Given the description of an element on the screen output the (x, y) to click on. 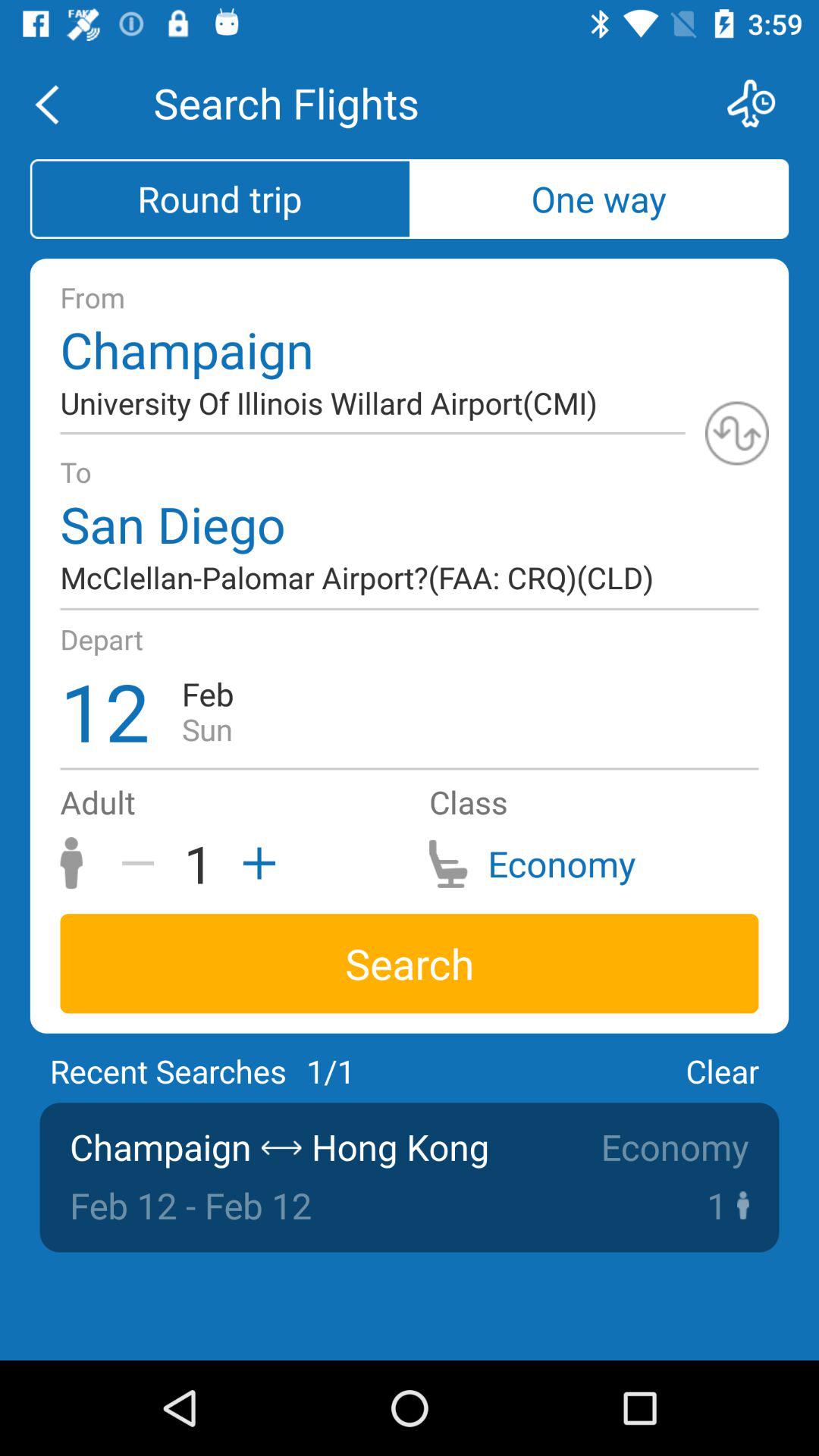
subtract adult from flight (143, 863)
